Given the description of an element on the screen output the (x, y) to click on. 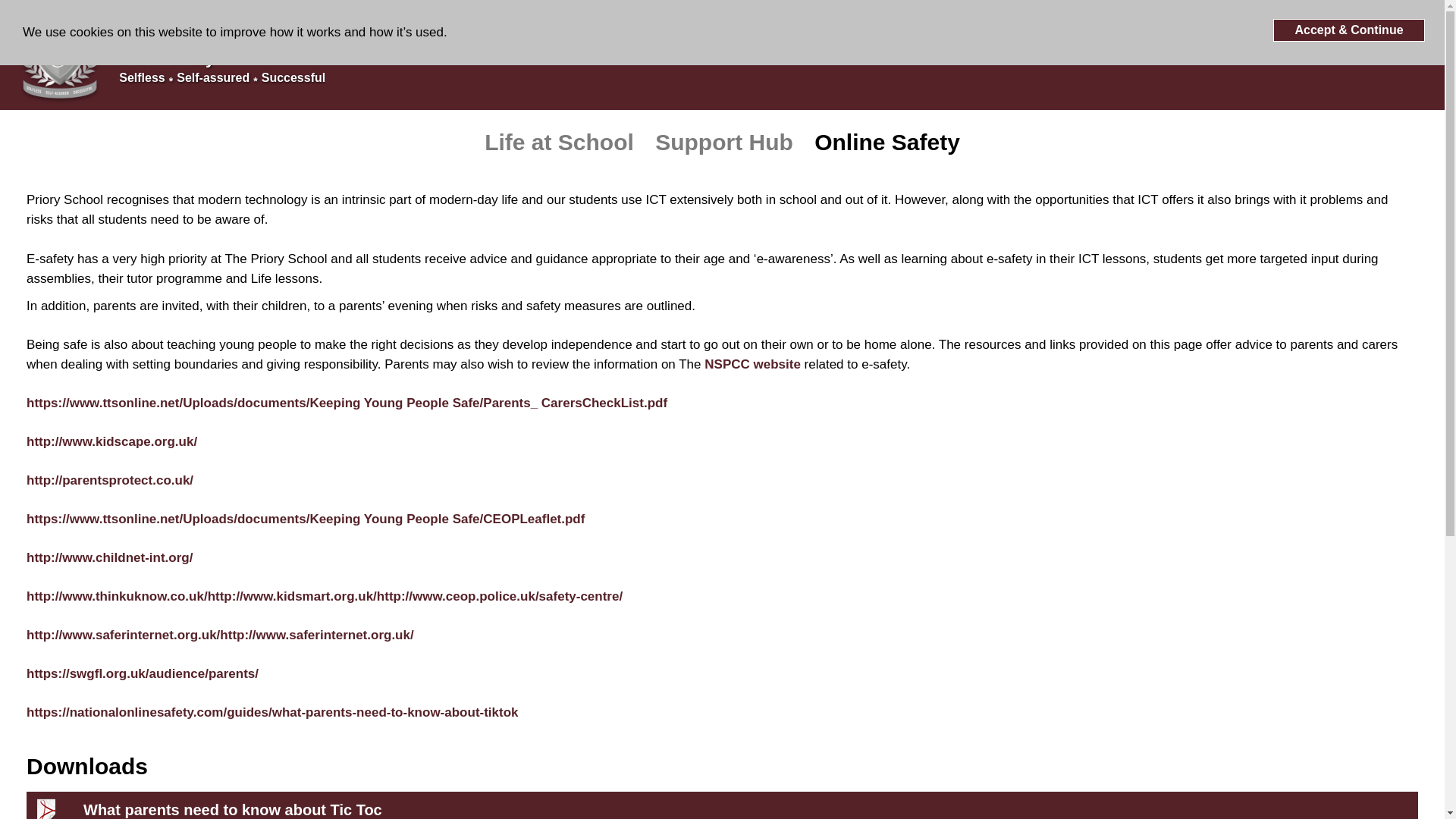
Access The School Library (1279, 48)
MS365 (1125, 48)
Arbor (1399, 52)
